Given the description of an element on the screen output the (x, y) to click on. 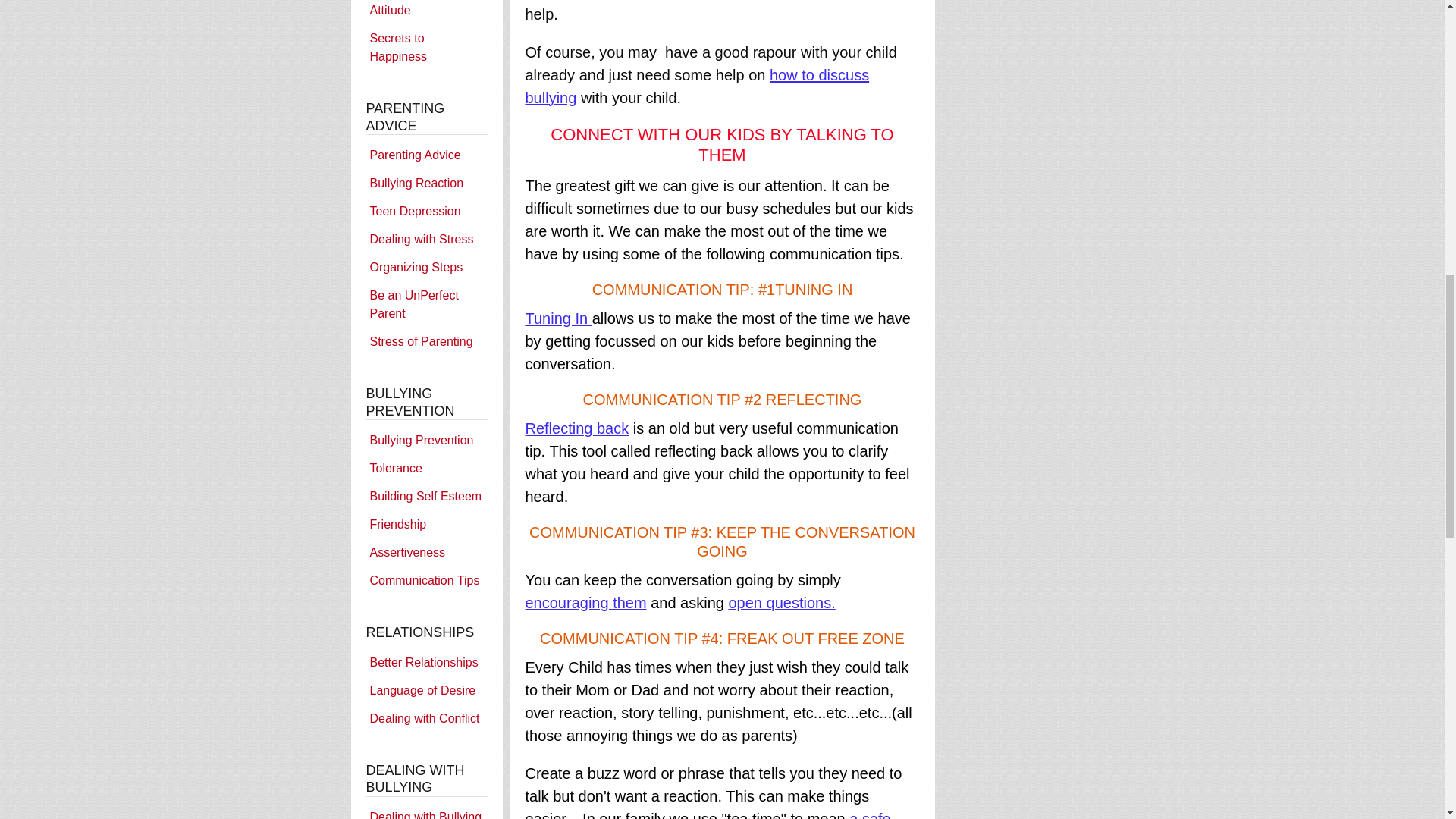
Tuning In (557, 317)
a safe space (706, 814)
open questions. (781, 602)
how to discuss bullying (696, 86)
Reflecting back (576, 428)
encouraging them (585, 602)
